Given the description of an element on the screen output the (x, y) to click on. 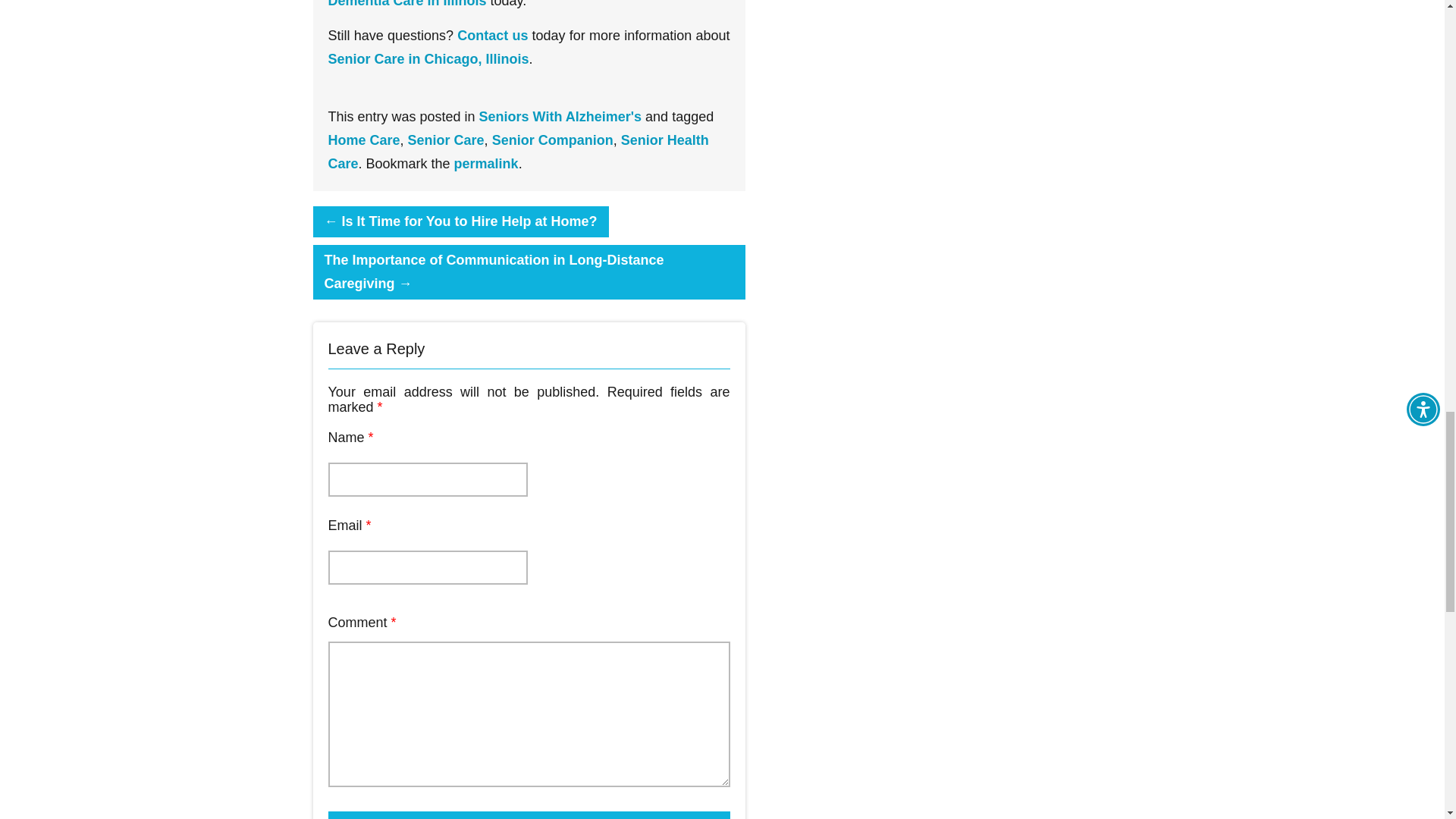
Home Care (362, 140)
Post Comment (528, 815)
Post Comment (528, 815)
Senior Care (445, 140)
Seniors With Alzheimer's (560, 116)
Senior Health Care (517, 151)
Permalink to Never Pressure, Always Reassure (486, 163)
Dementia Care in Illinois (406, 4)
Contact us (492, 35)
permalink (486, 163)
Senior Companion (552, 140)
Senior Care in Chicago, Illinois (427, 58)
